Given the description of an element on the screen output the (x, y) to click on. 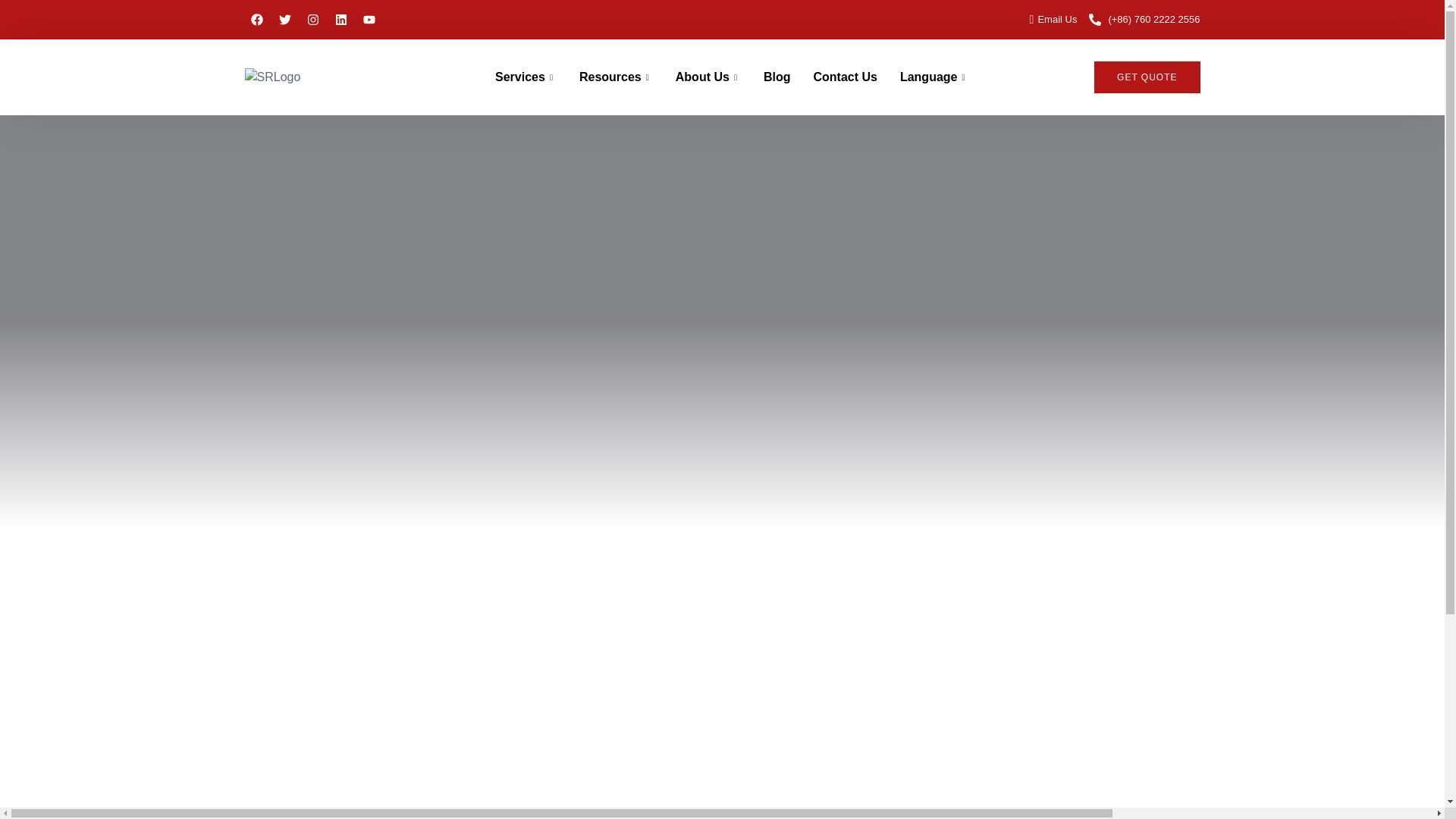
Services (525, 76)
SRLogo (310, 76)
Email Us (1047, 19)
